Given the description of an element on the screen output the (x, y) to click on. 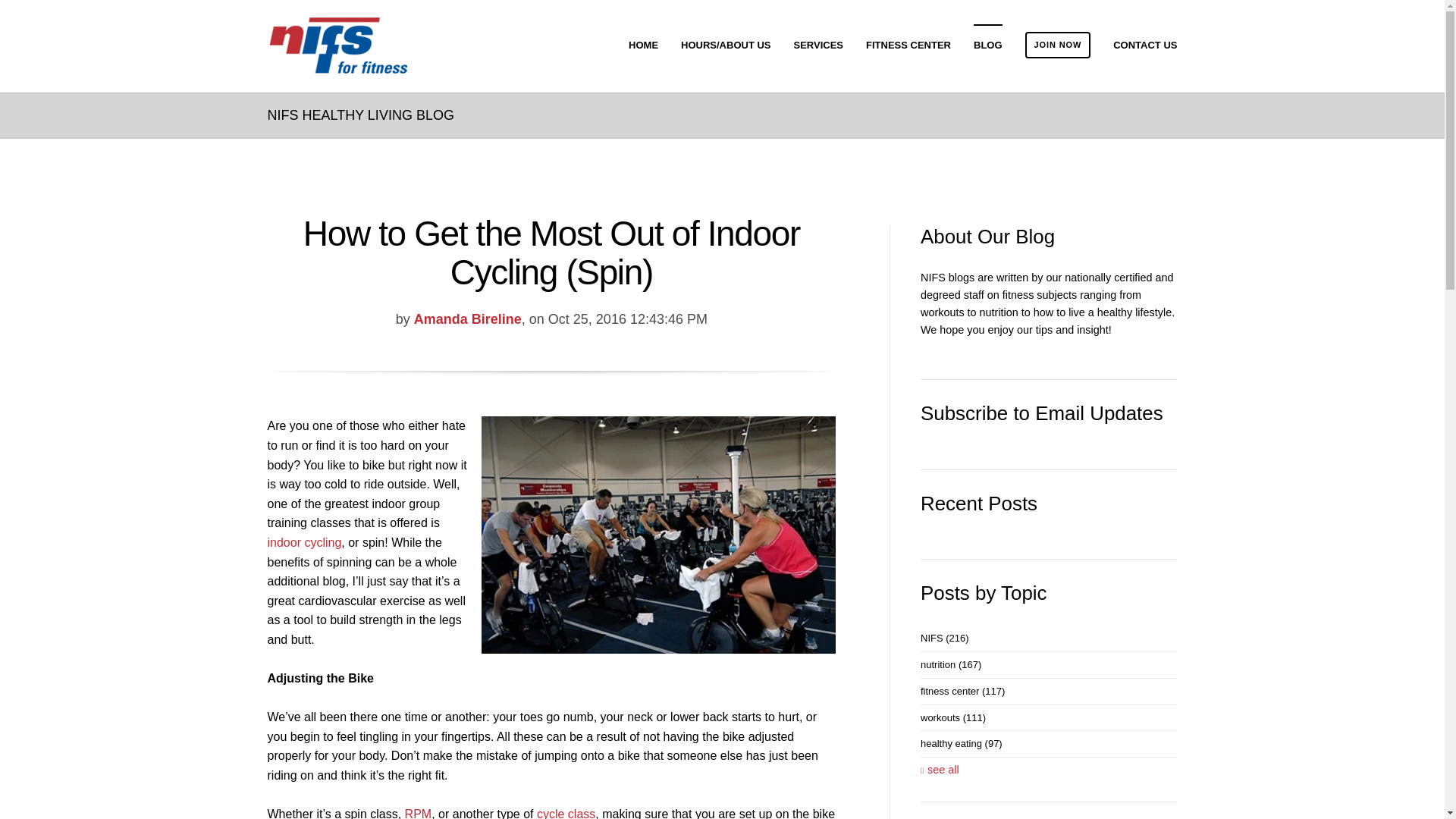
JOIN NOW (1057, 45)
RPM (418, 813)
indoor cycling (303, 542)
cycle class (566, 813)
CONTACT US (1144, 45)
SERVICES (818, 45)
nifs-logo.png (336, 45)
Amanda Bireline (467, 319)
FITNESS CENTER (908, 45)
